Given the description of an element on the screen output the (x, y) to click on. 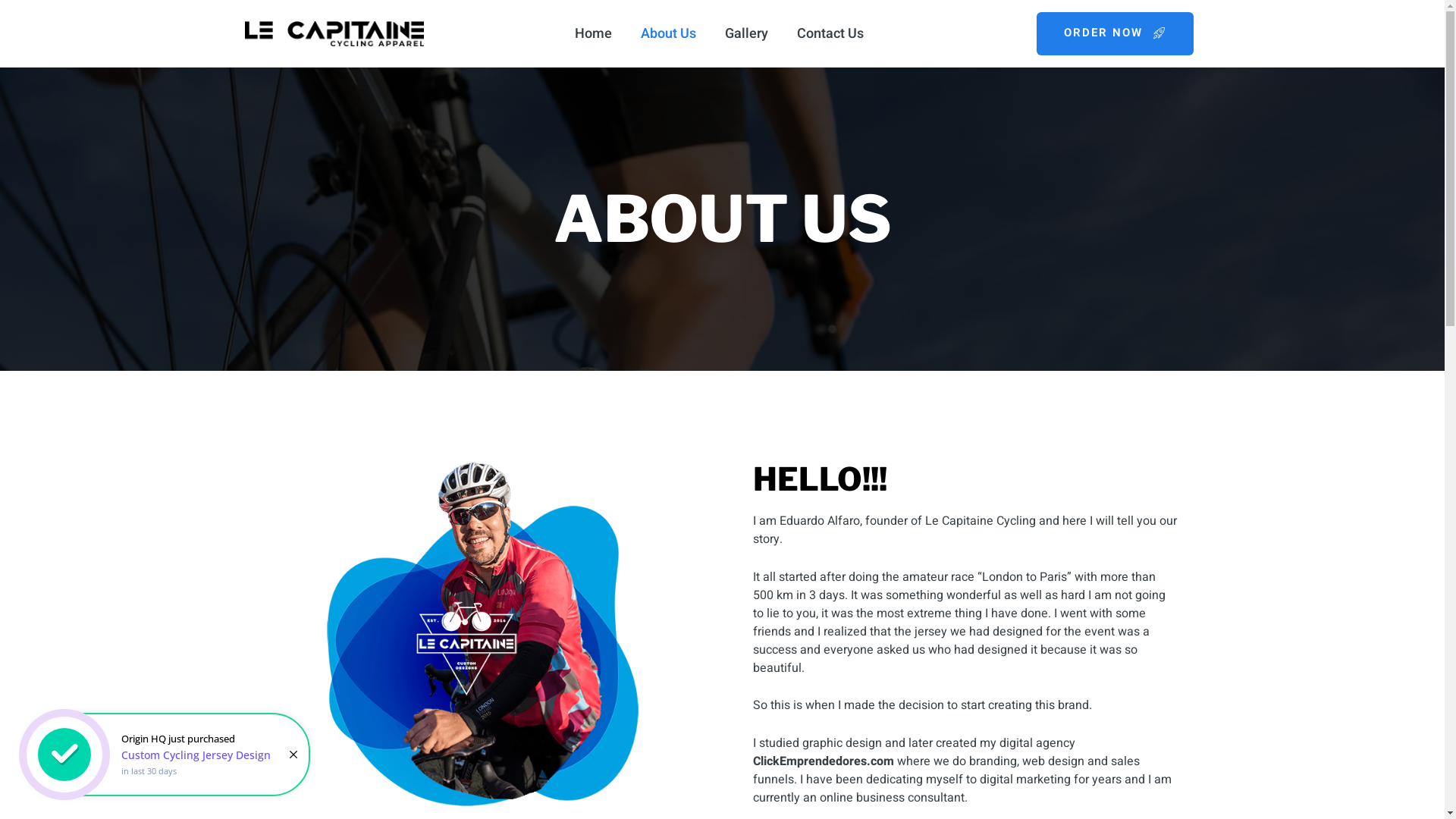
Home Element type: text (592, 33)
Contact Us Element type: text (830, 33)
About Us Element type: text (668, 33)
Gallery Element type: text (746, 33)
cropped-lecapitaine1-1.png Element type: hover (333, 34)
ORDER NOW Element type: text (1114, 33)
ClickEmprendedores.com Element type: text (822, 761)
